Given the description of an element on the screen output the (x, y) to click on. 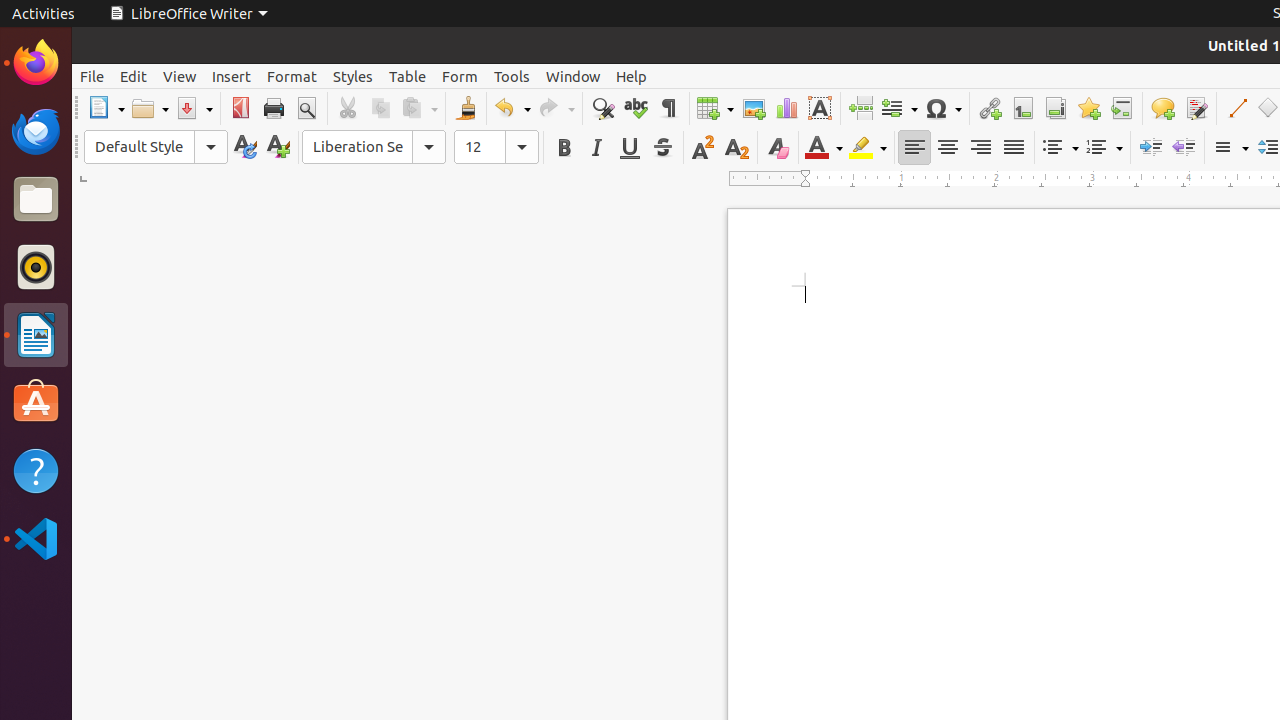
Ubuntu Software Element type: push-button (36, 402)
Help Element type: menu (631, 76)
LibreOffice Writer Element type: push-button (36, 334)
Table Element type: push-button (715, 108)
Formatting Marks Element type: toggle-button (668, 108)
